Given the description of an element on the screen output the (x, y) to click on. 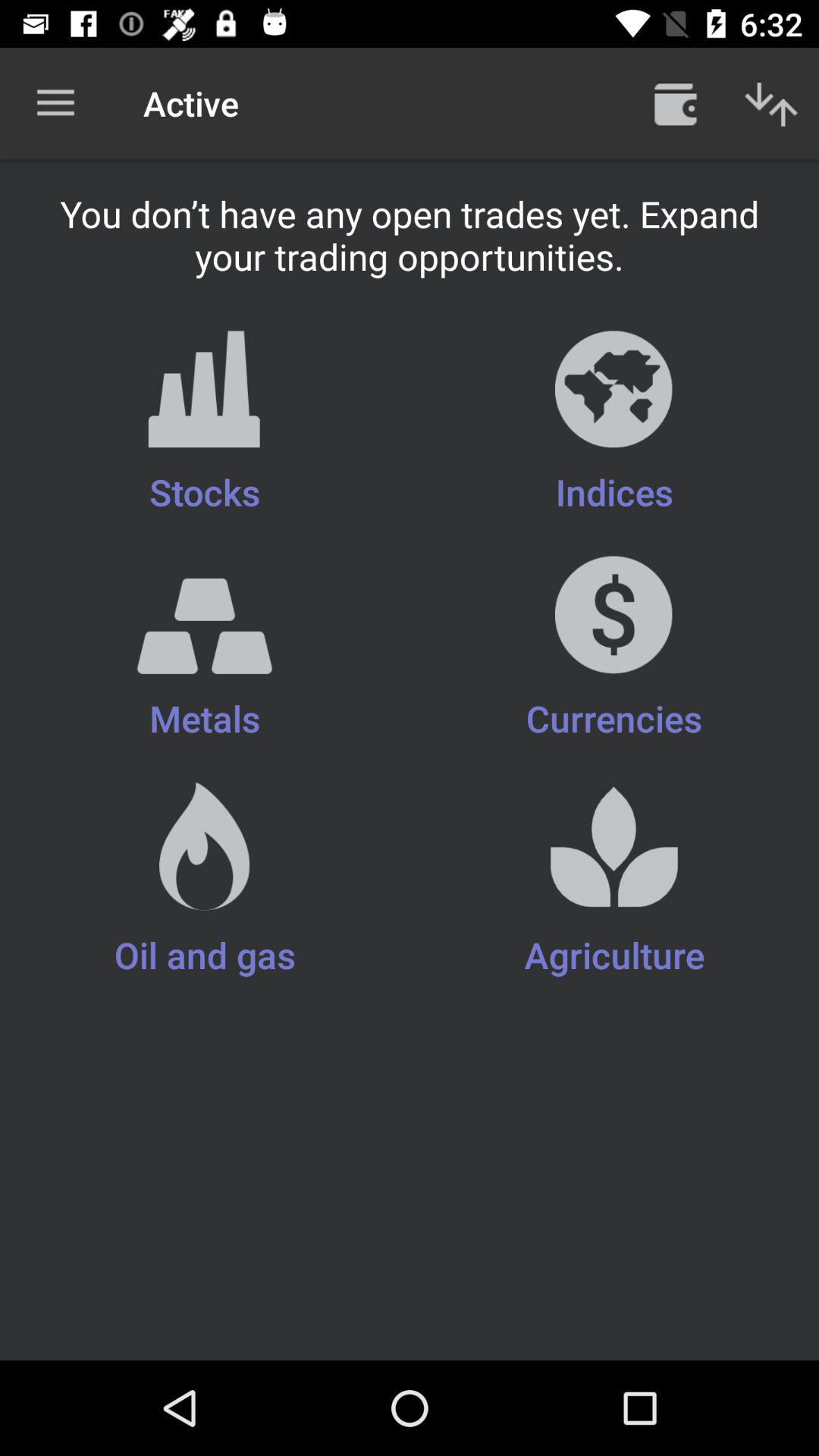
see calendar (675, 103)
